Given the description of an element on the screen output the (x, y) to click on. 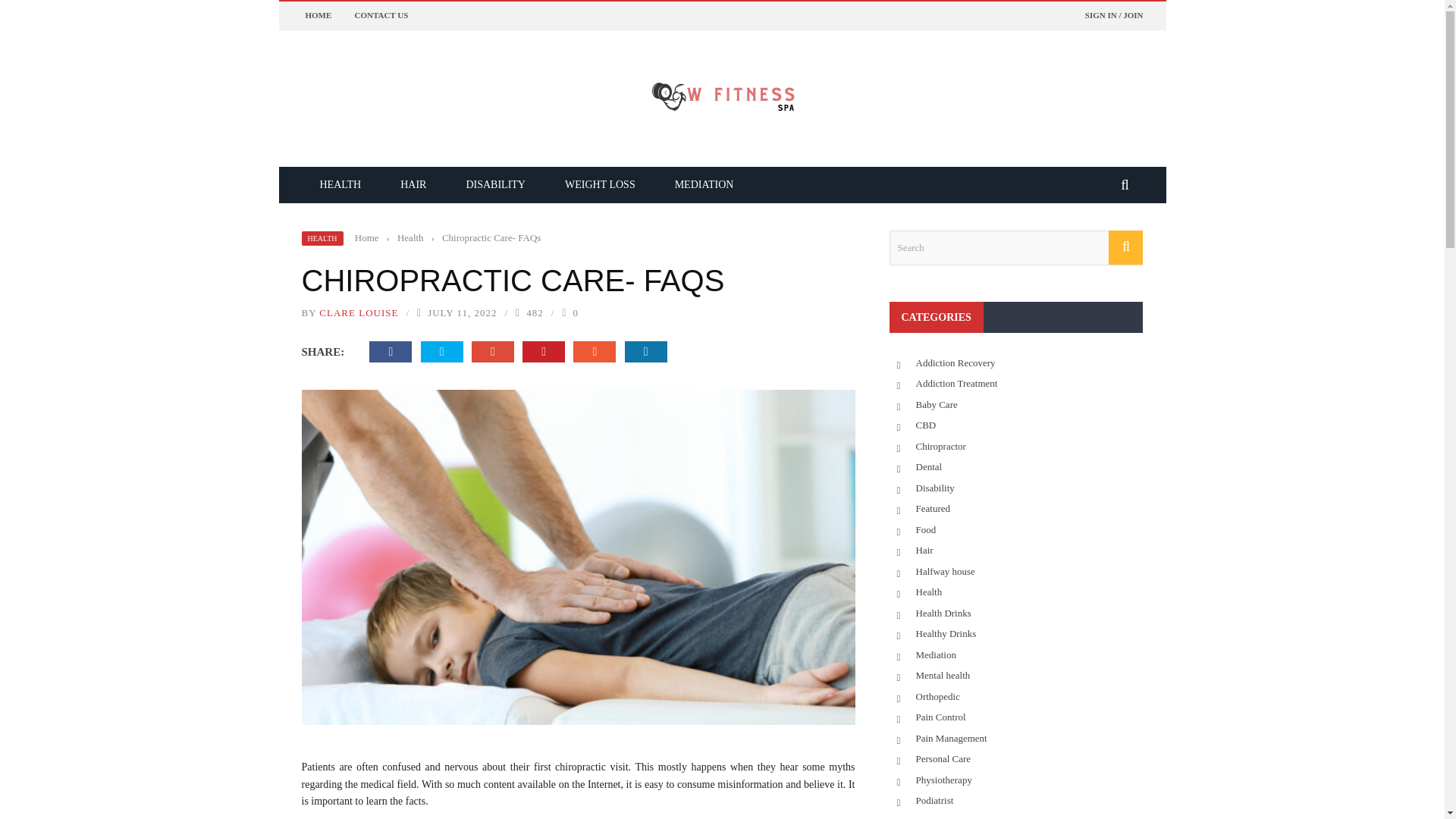
CONTACT US (382, 14)
DISABILITY (494, 184)
Search (1015, 247)
CLARE LOUISE (357, 312)
HEALTH (340, 184)
HAIR (412, 184)
Health (410, 237)
Home (366, 237)
MEDIATION (704, 184)
WEIGHT LOSS (600, 184)
HOME (317, 14)
HEALTH (322, 237)
